Given the description of an element on the screen output the (x, y) to click on. 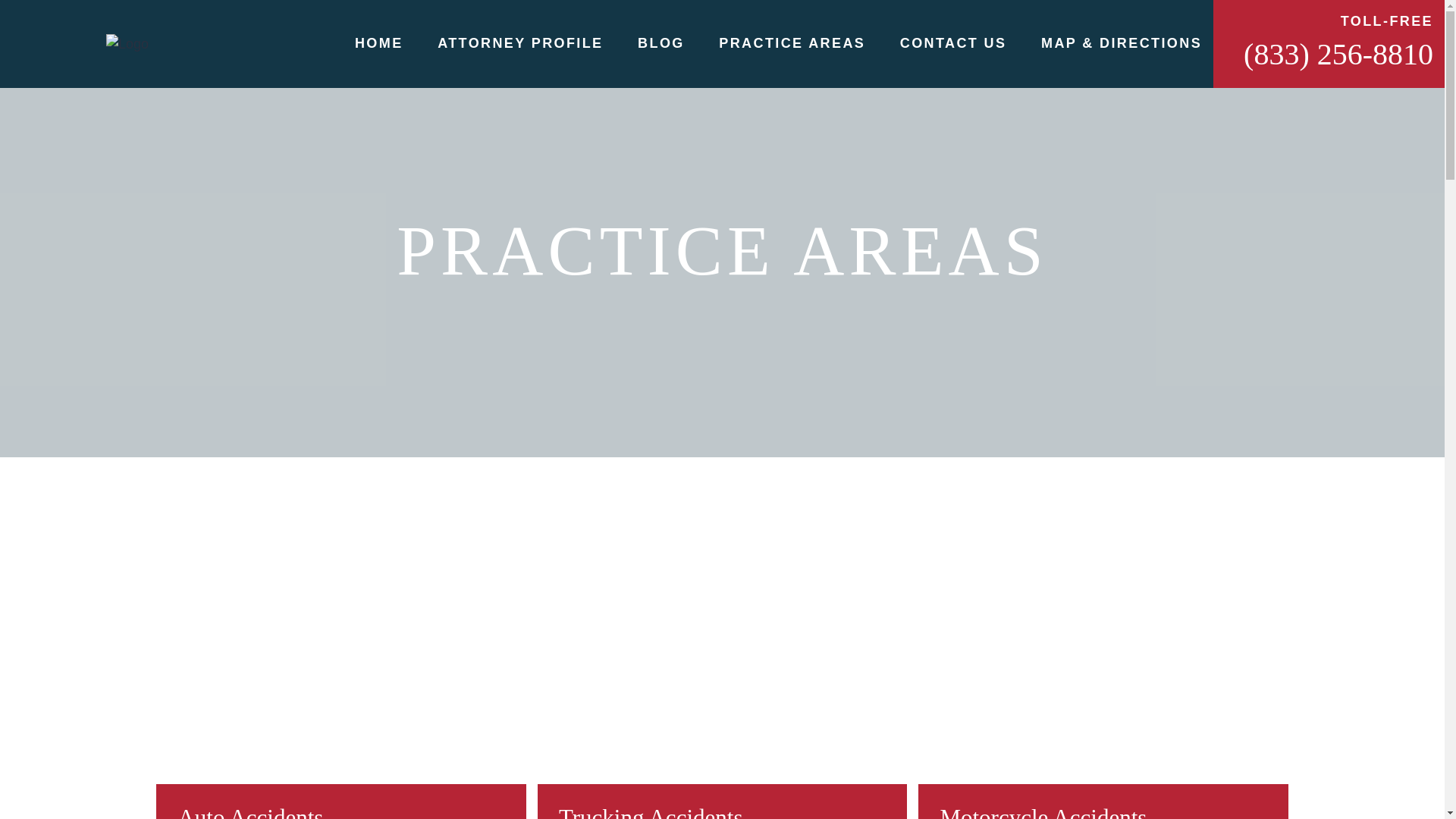
HOME (379, 43)
Motorcycle Accidents (1102, 703)
CONTACT US (953, 43)
Auto Accidents (340, 703)
ATTORNEY PROFILE (520, 43)
Trucking Accidents (722, 703)
BLOG (660, 43)
PRACTICE AREAS (791, 43)
